Given the description of an element on the screen output the (x, y) to click on. 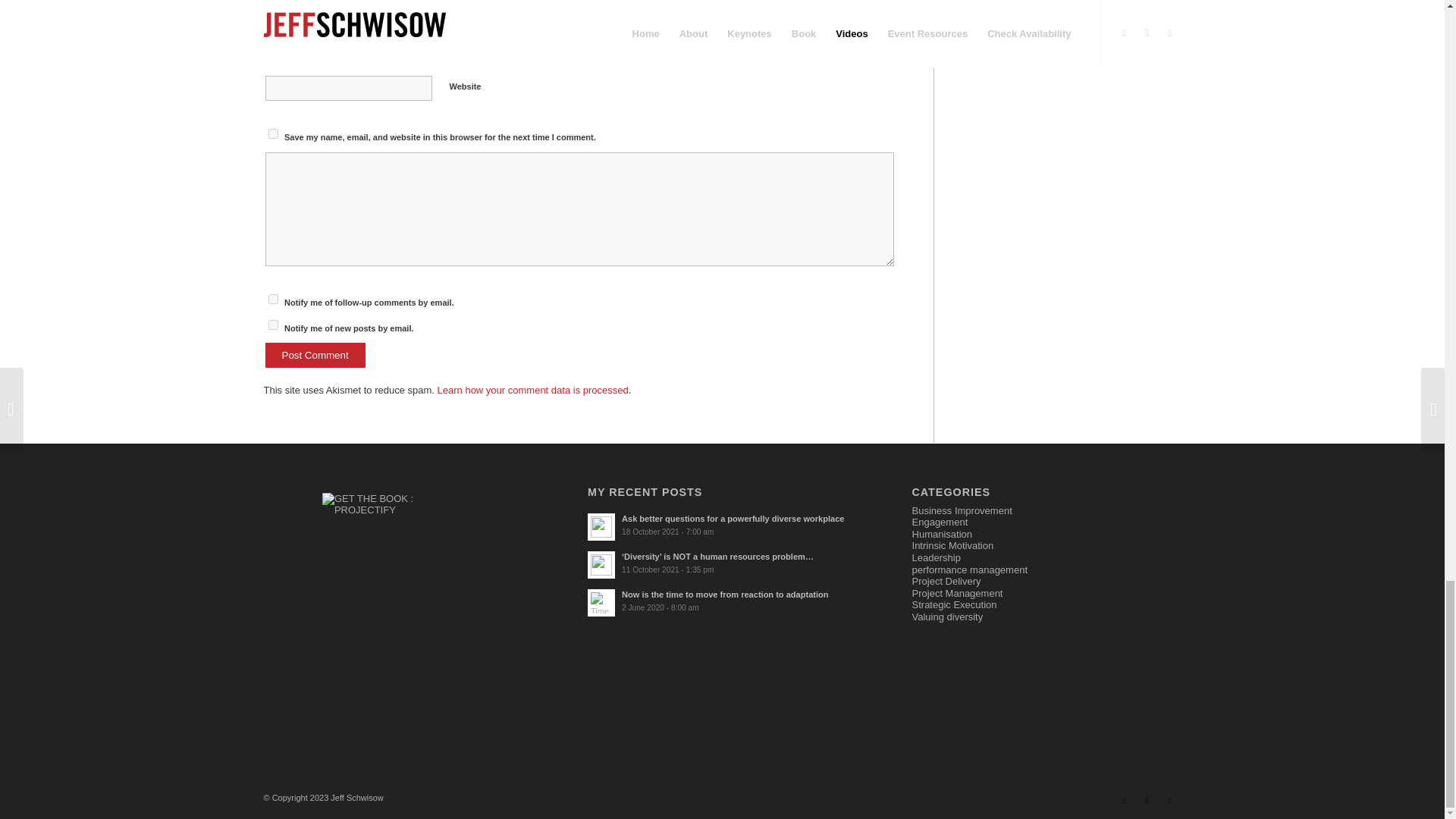
yes (272, 133)
subscribe (272, 298)
subscribe (272, 325)
Post Comment (314, 355)
Learn how your comment data is processed (533, 389)
Post Comment (314, 355)
